Given the description of an element on the screen output the (x, y) to click on. 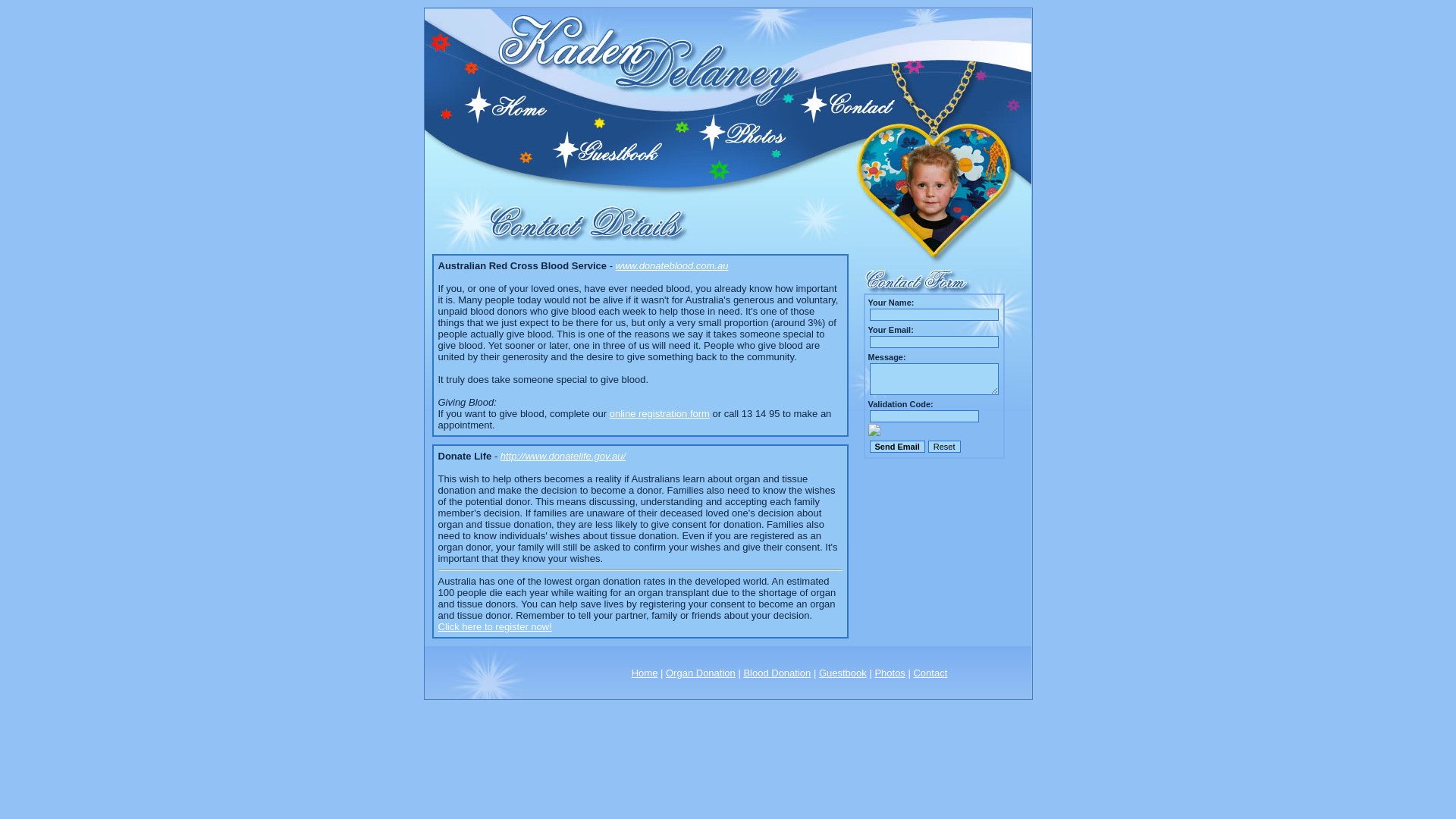
Organ Donation Element type: text (700, 672)
Guestbook Element type: text (842, 672)
www.donateblood.com.au Element type: text (671, 265)
http://www.donatelife.gov.au/ Element type: text (562, 455)
Blood Donation Element type: text (776, 672)
Contact Element type: text (930, 672)
Home Element type: text (644, 672)
Photos Element type: text (889, 672)
Click here to register now! Element type: text (495, 626)
online registration form Element type: text (659, 413)
Send Email Element type: text (896, 446)
